Given the description of an element on the screen output the (x, y) to click on. 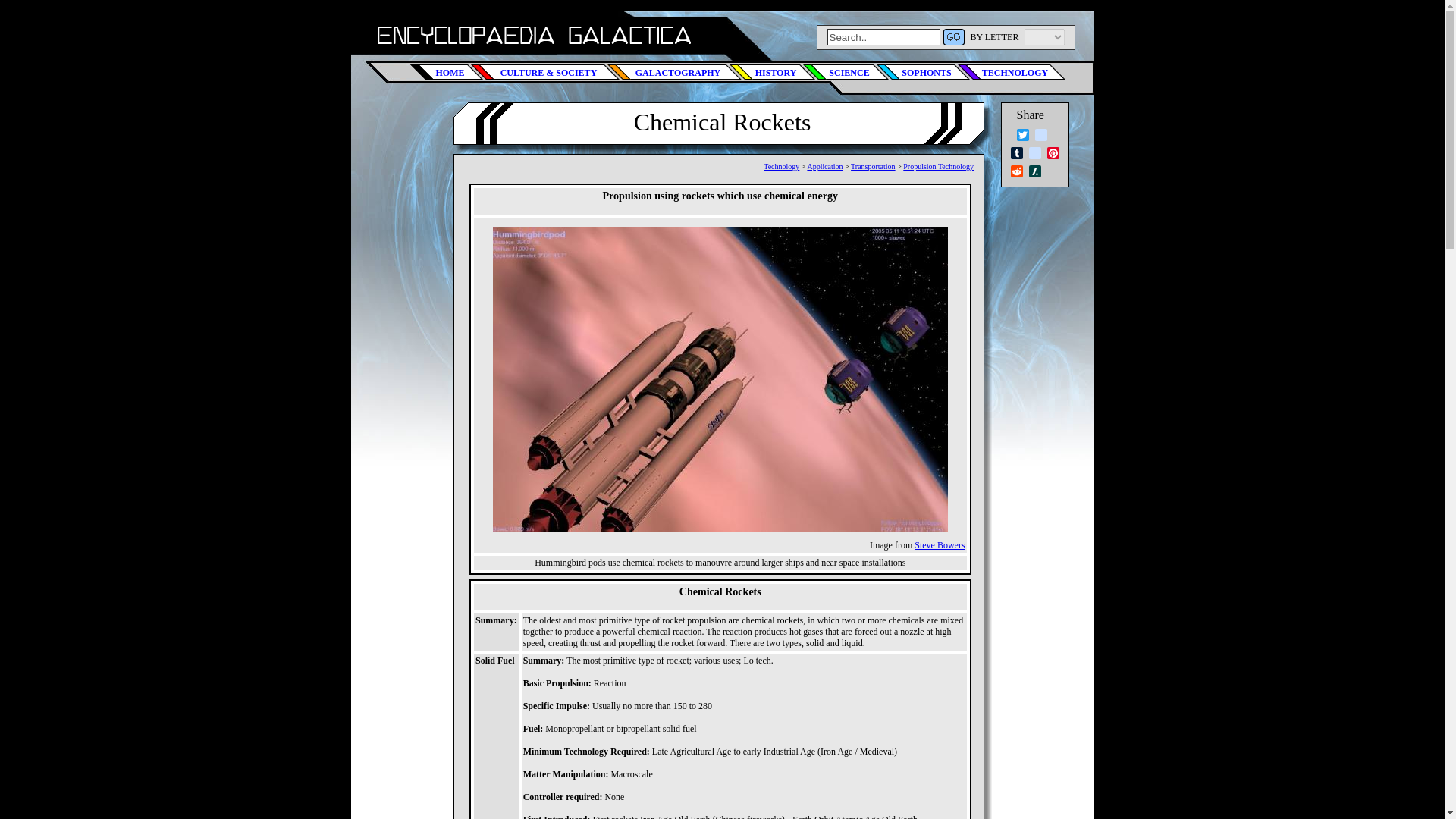
HISTORY (772, 71)
Tumblr (1016, 153)
Reddit (1016, 171)
Pinterest (1052, 153)
SOPHONTS (922, 71)
Application (824, 166)
Propulsion Technology (938, 166)
baidu (1034, 153)
GALACTOGRAPHY (674, 71)
Twitter (1021, 135)
Transportation (872, 166)
SCIENCE (845, 71)
delicious (1039, 135)
Search.. (883, 36)
Slashdot (1034, 171)
